Given the description of an element on the screen output the (x, y) to click on. 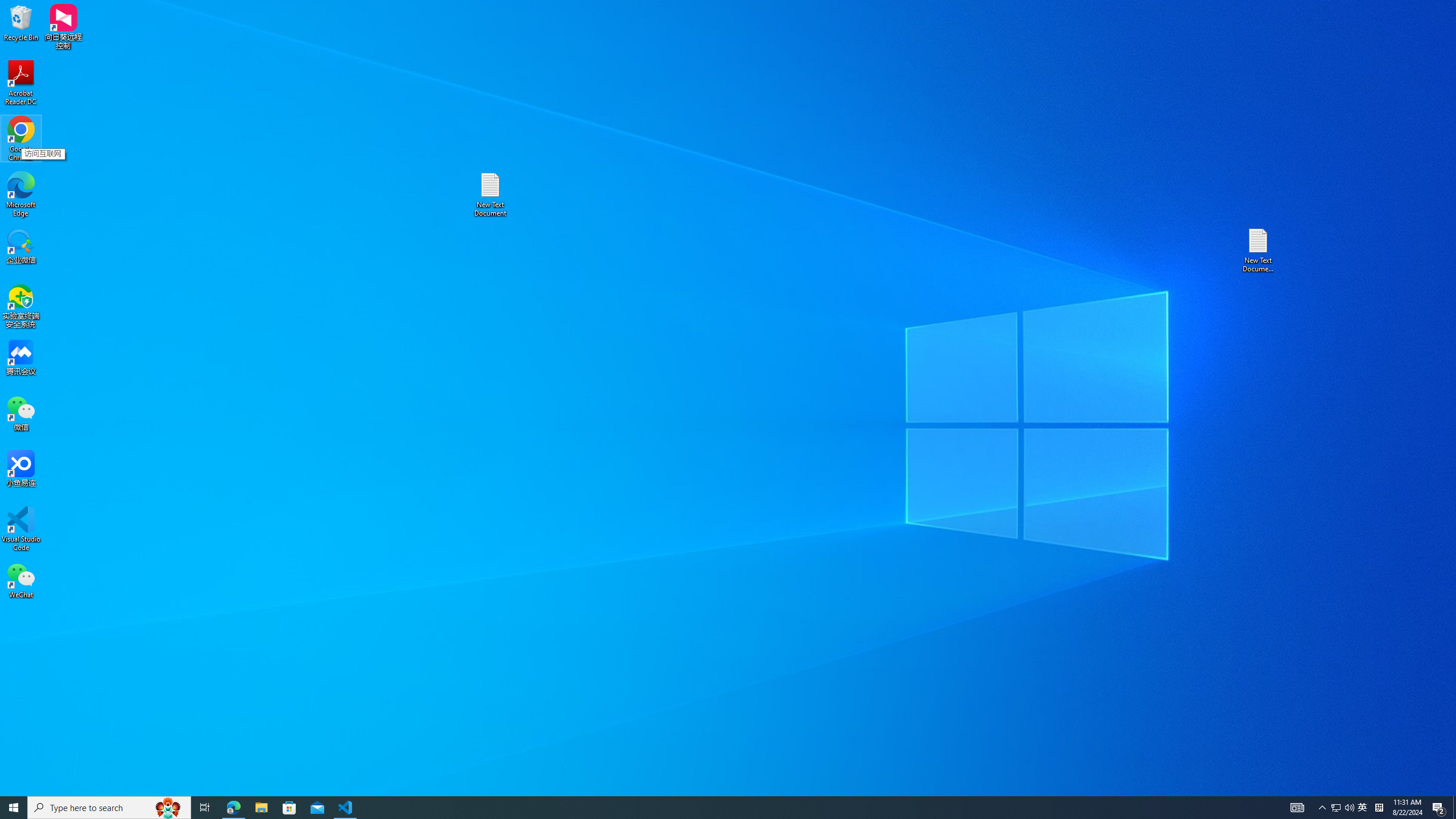
New Text Document (489, 194)
Action Center, 2 new notifications (1439, 807)
